Given the description of an element on the screen output the (x, y) to click on. 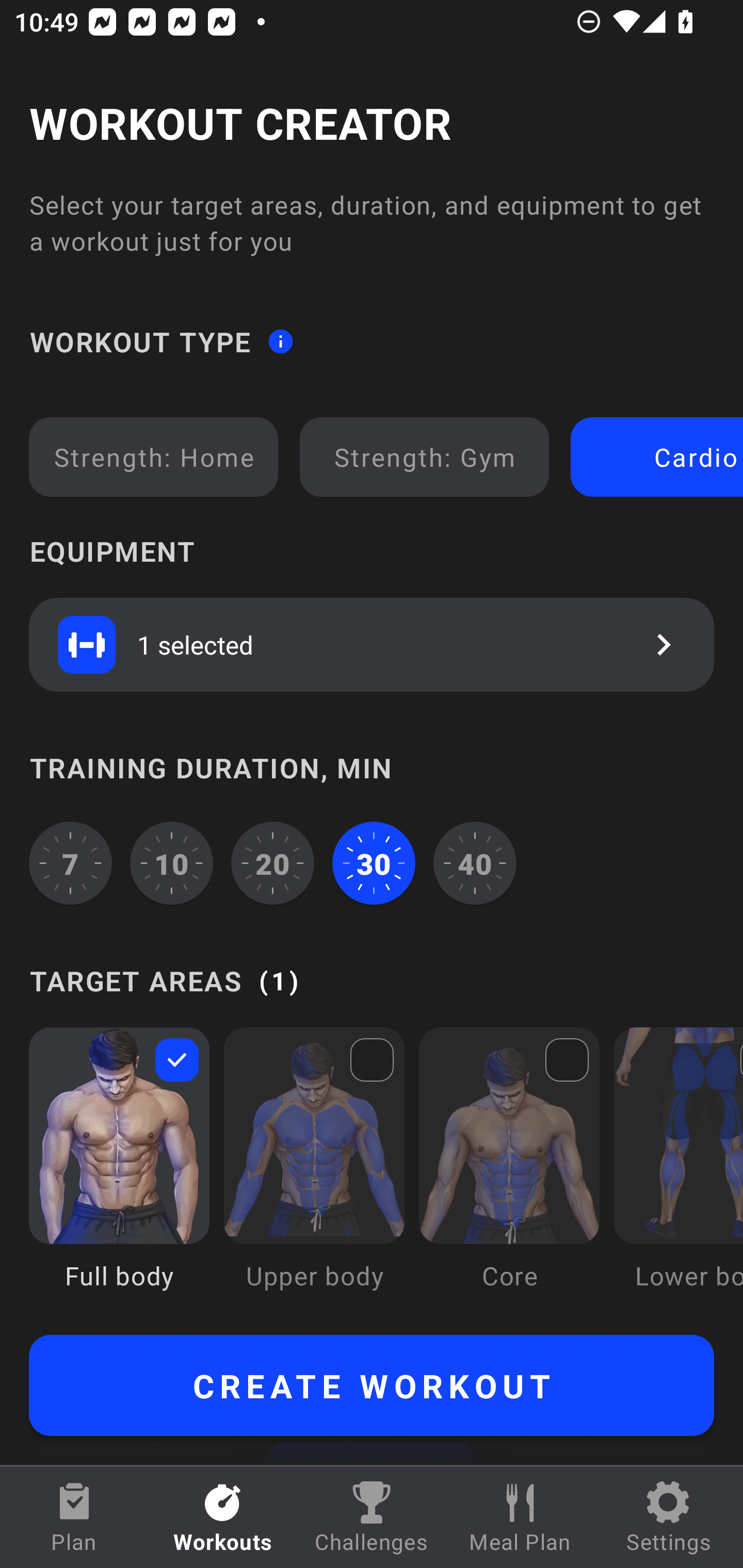
Workout type information button (280, 340)
Strength: Home (153, 457)
Strength: Gym (423, 457)
1 selected (371, 644)
7 (70, 863)
10 (171, 863)
20 (272, 863)
30 (373, 863)
40 (474, 863)
Upper body (313, 1172)
Core (509, 1172)
Lower body (678, 1172)
CREATE WORKOUT (371, 1385)
 Plan  (74, 1517)
 Challenges  (371, 1517)
 Meal Plan  (519, 1517)
 Settings  (668, 1517)
